Given the description of an element on the screen output the (x, y) to click on. 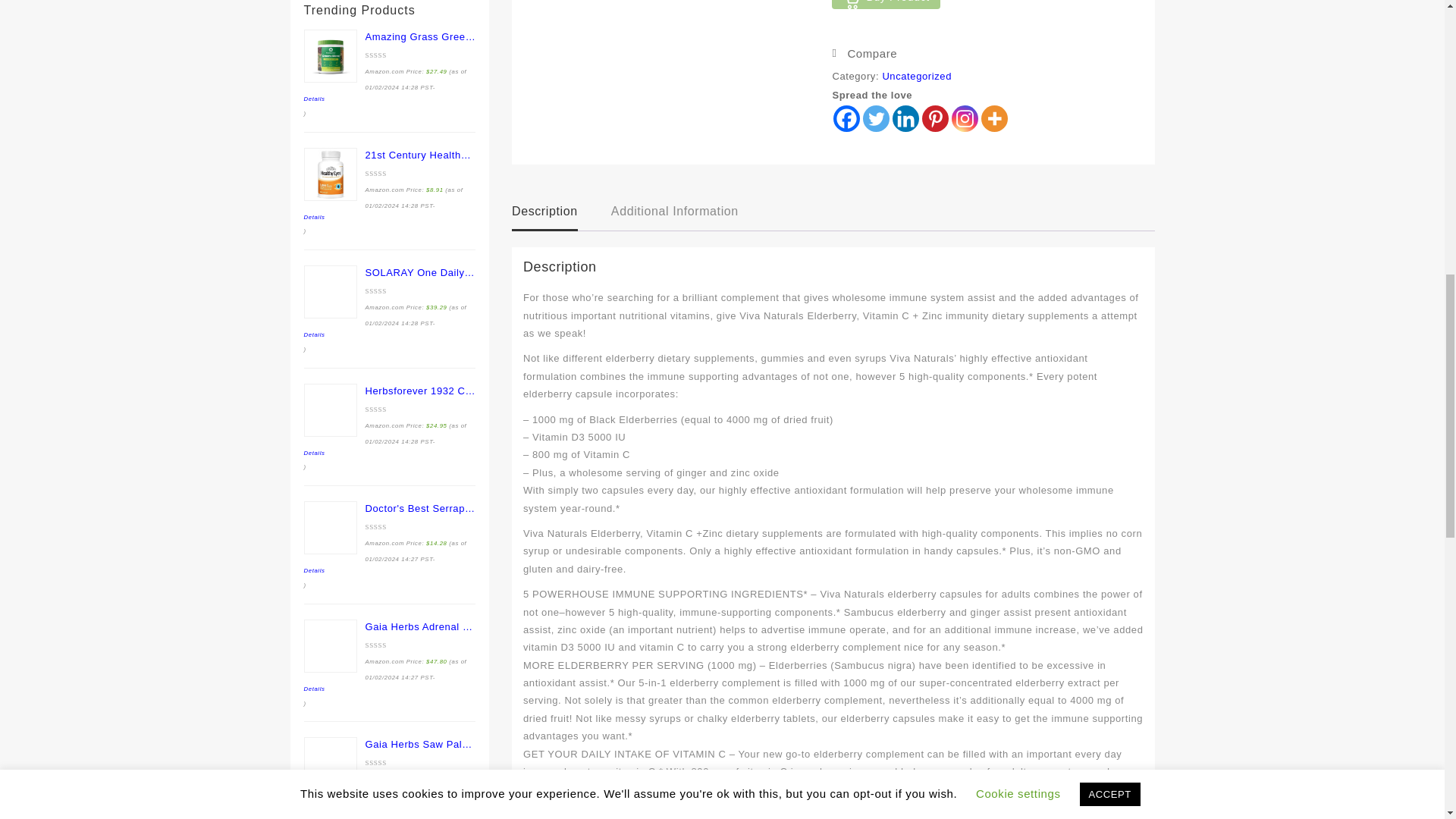
Buy Product (885, 4)
More (994, 118)
Facebook (846, 118)
Uncategorized (917, 75)
Compare (863, 53)
Instagram (965, 118)
Linkedin (905, 118)
Additional Information (674, 211)
Pinterest (935, 118)
Twitter (876, 118)
Description (545, 212)
